Given the description of an element on the screen output the (x, y) to click on. 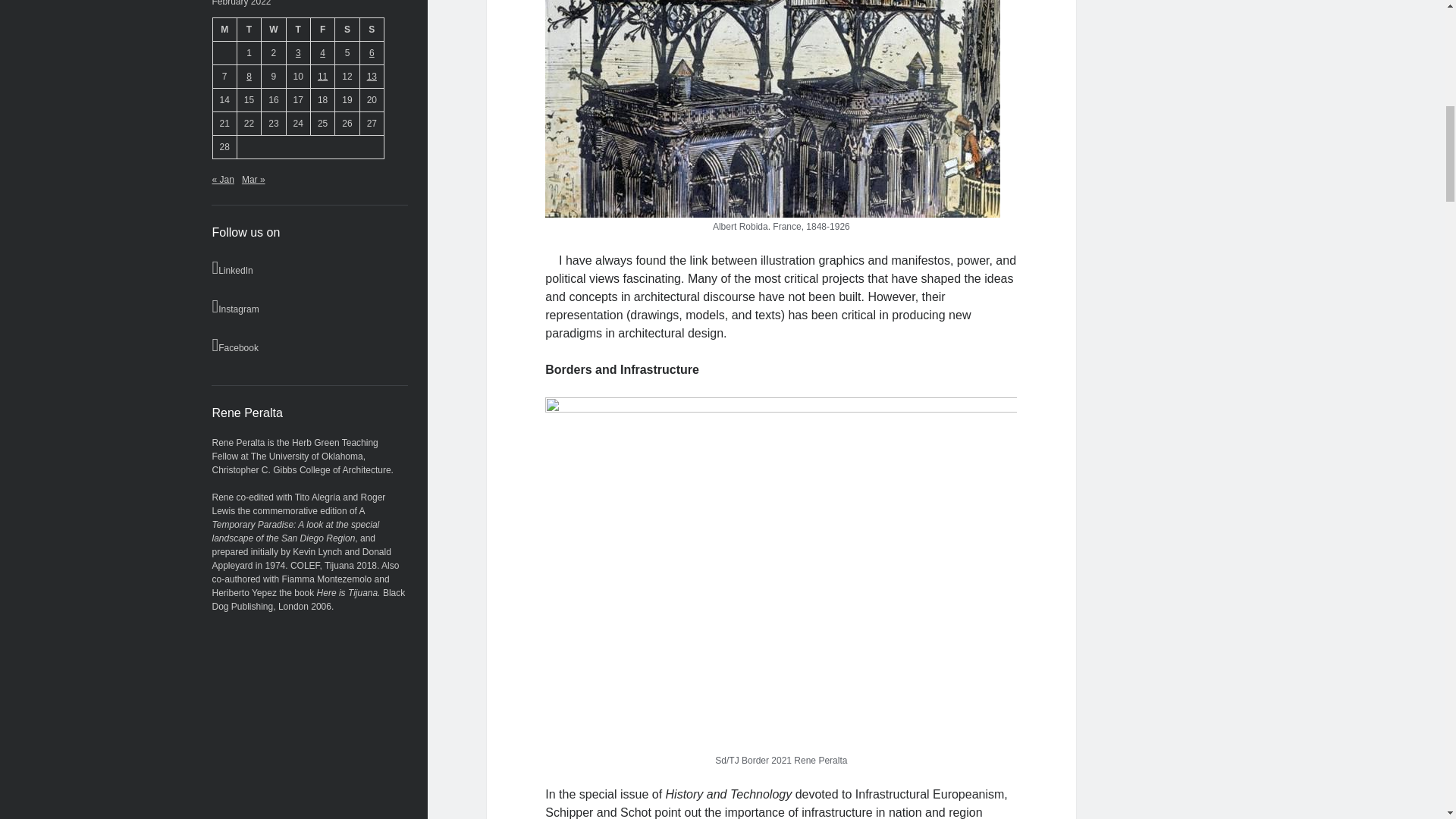
Visit Pensamientos Genericos on Instagram (309, 306)
Wednesday (273, 28)
Tuesday (247, 28)
Friday (322, 28)
Monday (223, 28)
Saturday (346, 28)
Instagram (309, 306)
13 (371, 76)
Thursday (297, 28)
Visit Pensamientos Genericos on Facebook (309, 344)
